Given the description of an element on the screen output the (x, y) to click on. 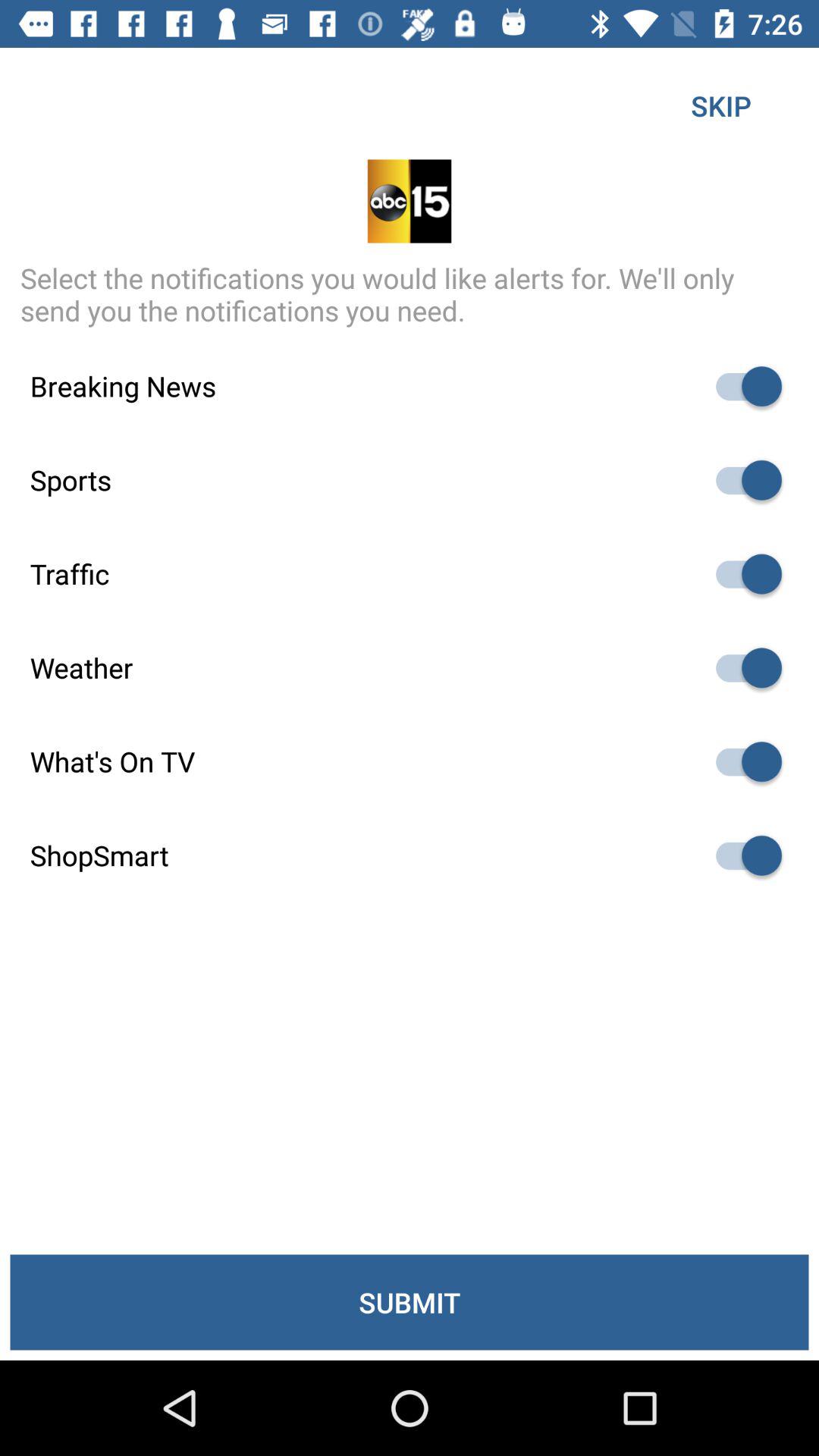
toggle sports notifications (741, 480)
